Given the description of an element on the screen output the (x, y) to click on. 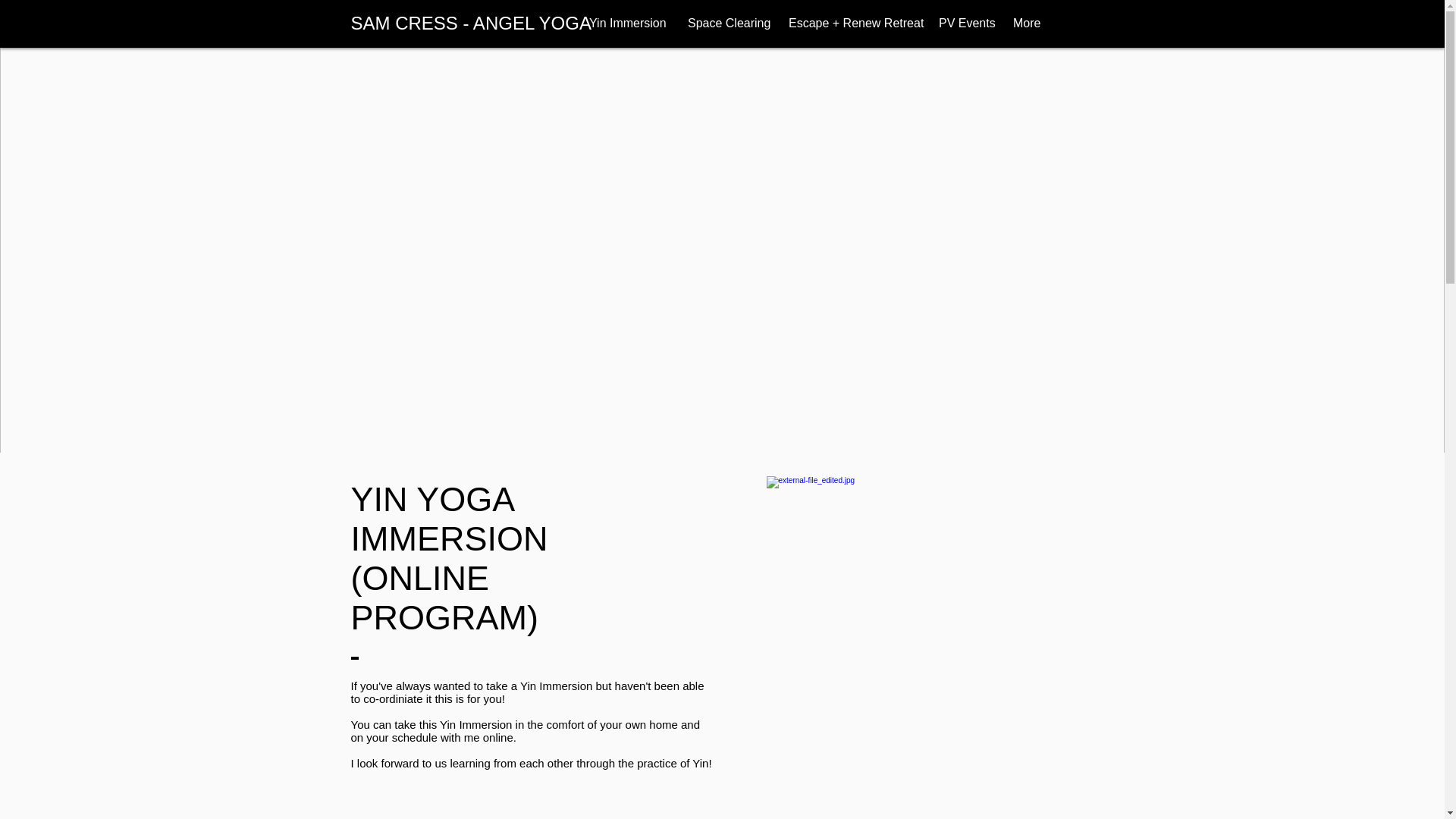
PV Events (964, 22)
SAM CRESS - ANGEL YOGA (470, 22)
Space Clearing (727, 22)
Yin Immersion (627, 22)
Angel Yoga-Yin one on one.png (915, 625)
